Given the description of an element on the screen output the (x, y) to click on. 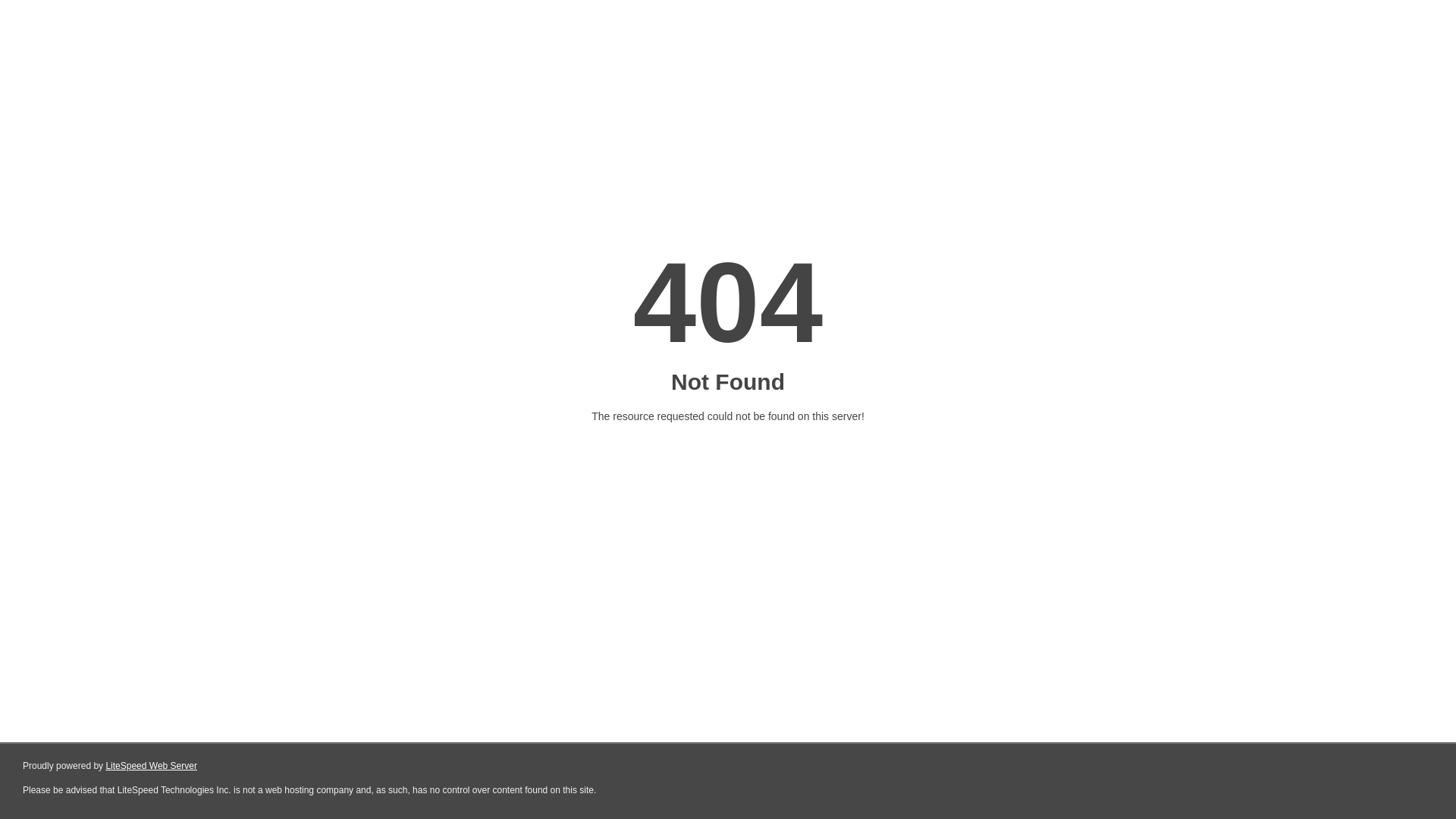
LiteSpeed Web Server Element type: text (151, 765)
